Given the description of an element on the screen output the (x, y) to click on. 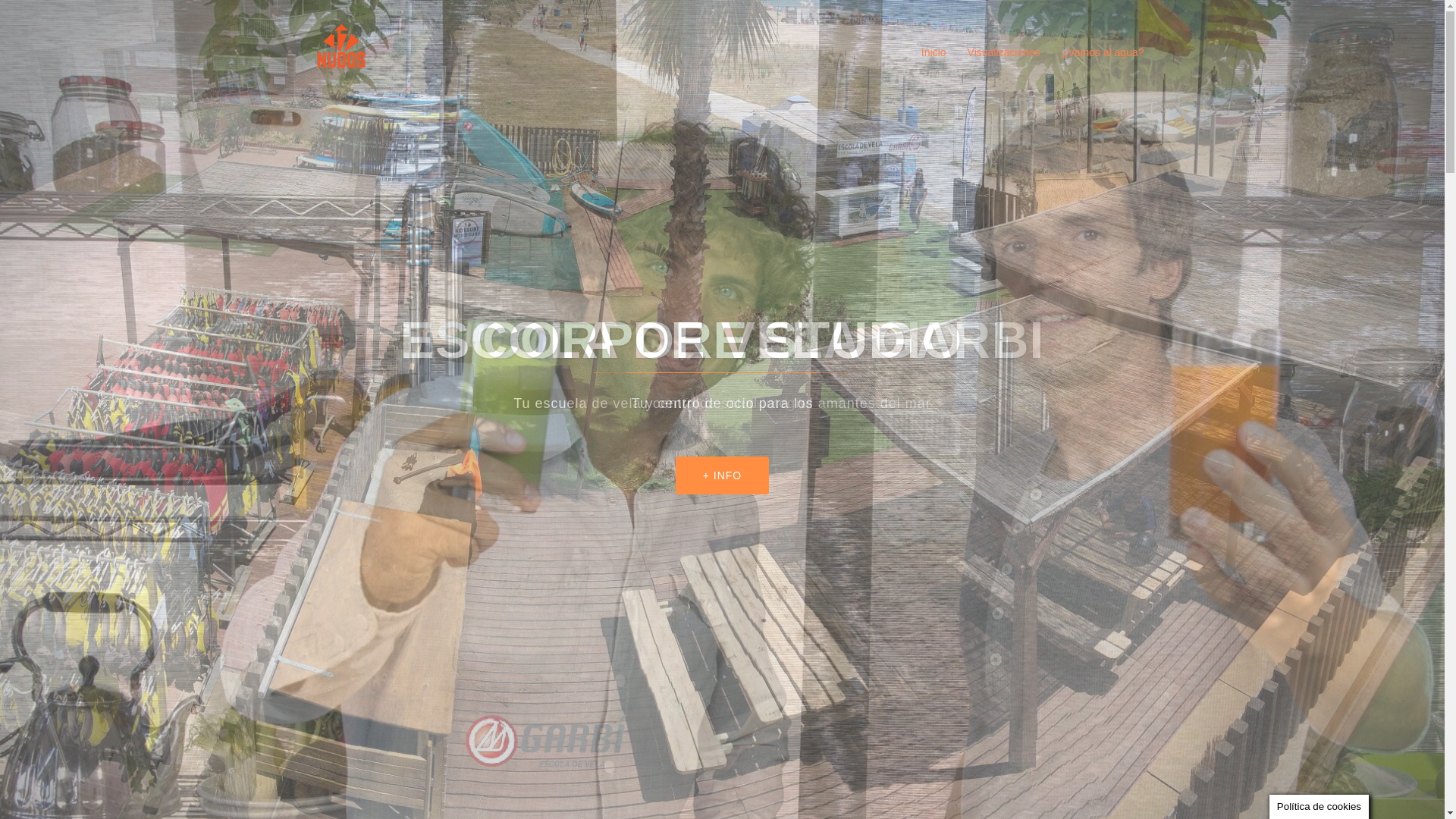
Inicio Element type: text (933, 52)
+ INFO Element type: text (722, 475)
17nudos Element type: hover (343, 51)
Visualizaciones Element type: text (1003, 52)
